Given the description of an element on the screen output the (x, y) to click on. 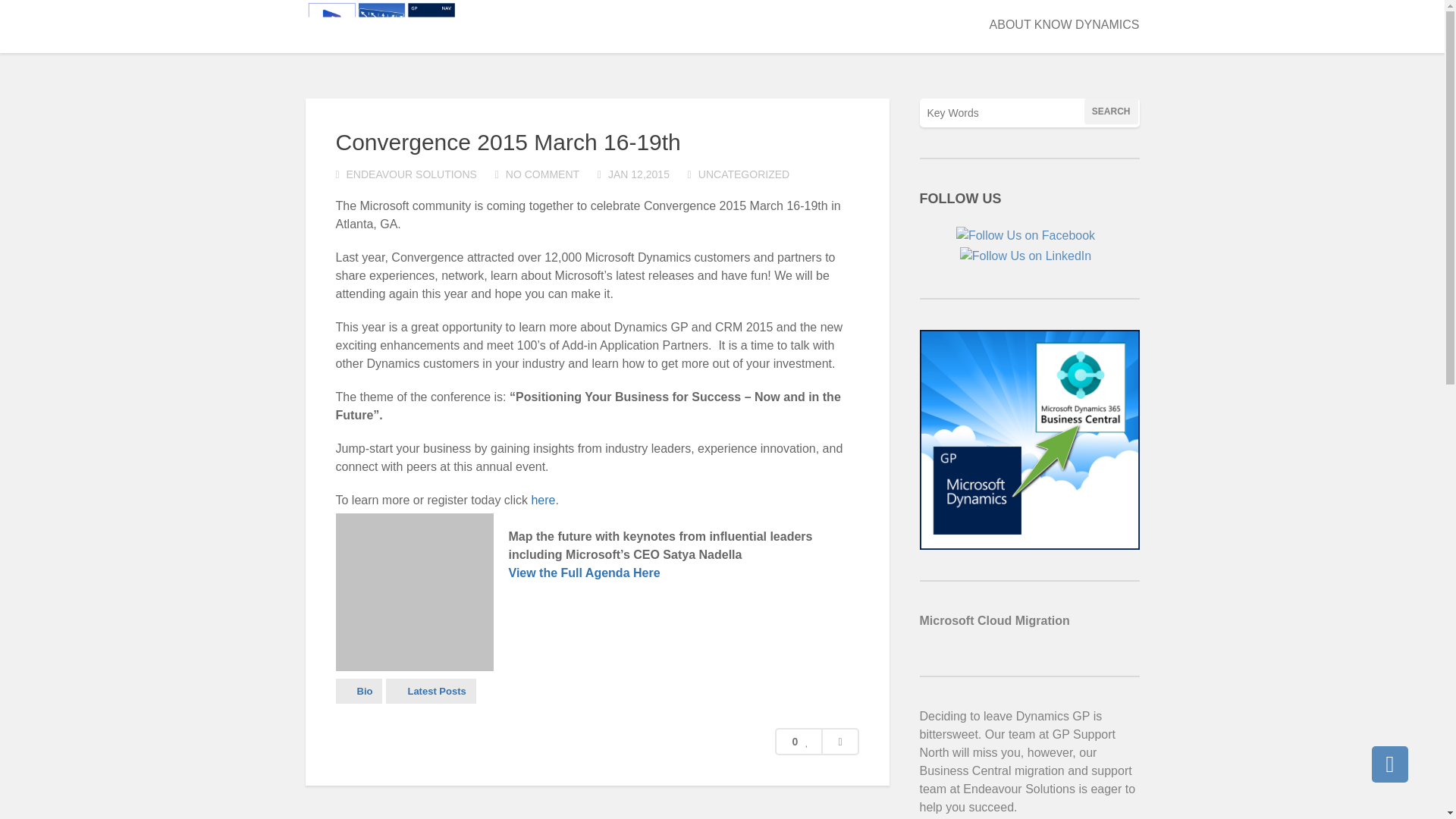
Search (1111, 111)
Search (1111, 111)
Posts by Endeavour Solutions (411, 174)
Follow Us on Facebook (1025, 235)
View the Full A (551, 572)
here (540, 499)
ABOUT KNOW DYNAMICS (1065, 25)
Latest Posts (430, 690)
Search (1111, 111)
genda Here (626, 572)
Bio (357, 690)
UNCATEGORIZED (743, 174)
Follow Us on LinkedIn (1024, 256)
ENDEAVOUR SOLUTIONS (411, 174)
